Given the description of an element on the screen output the (x, y) to click on. 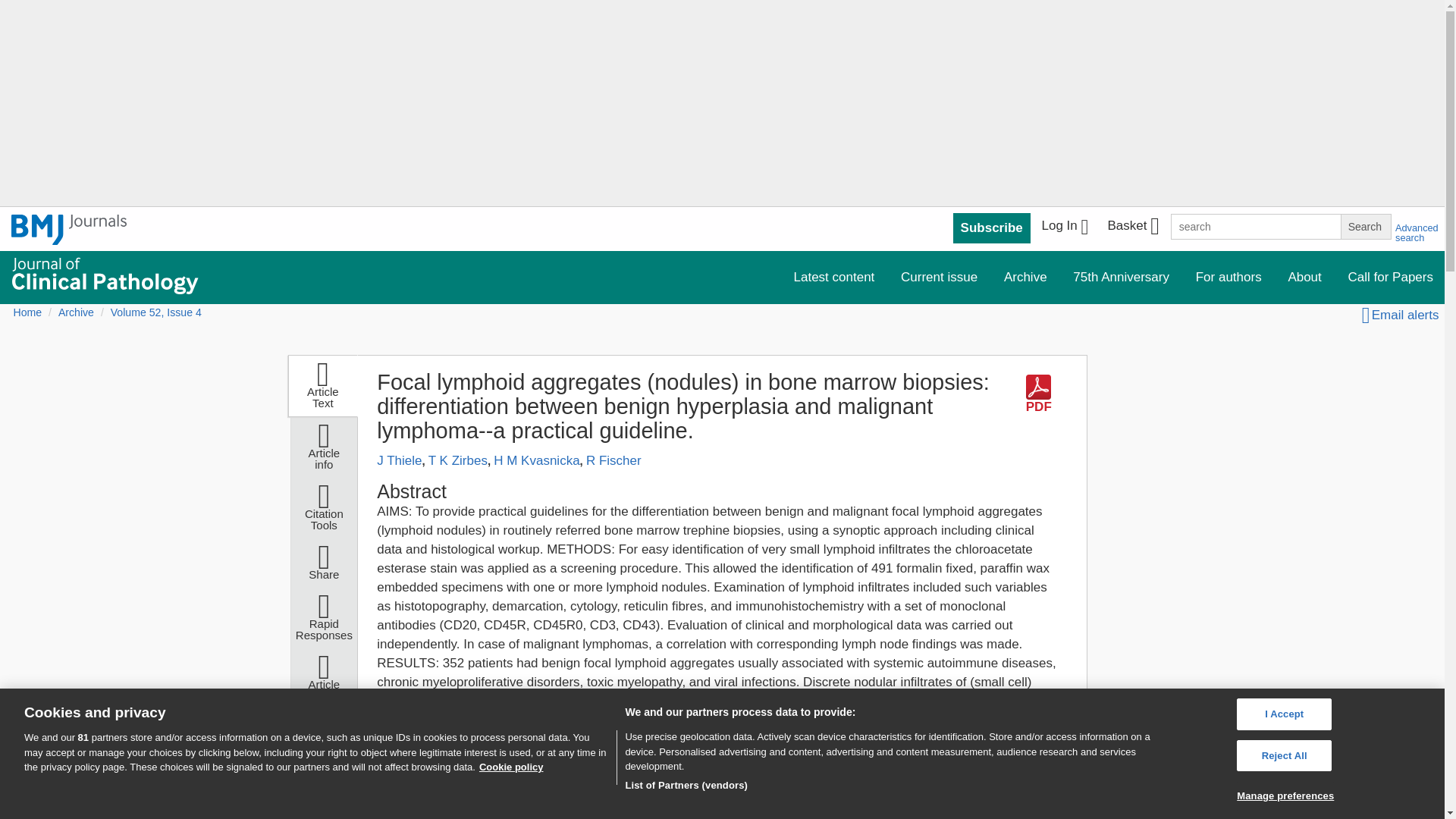
Current issue (938, 276)
Subscribe (991, 227)
BMJ Journals (68, 237)
Search (1364, 226)
Basket (1132, 228)
Log In (1064, 228)
75th Anniversary (1120, 276)
For authors (1228, 276)
Archive (1025, 276)
BMJ Journals (68, 229)
Latest content (834, 276)
Advanced search (1416, 232)
Search (1364, 226)
